Given the description of an element on the screen output the (x, y) to click on. 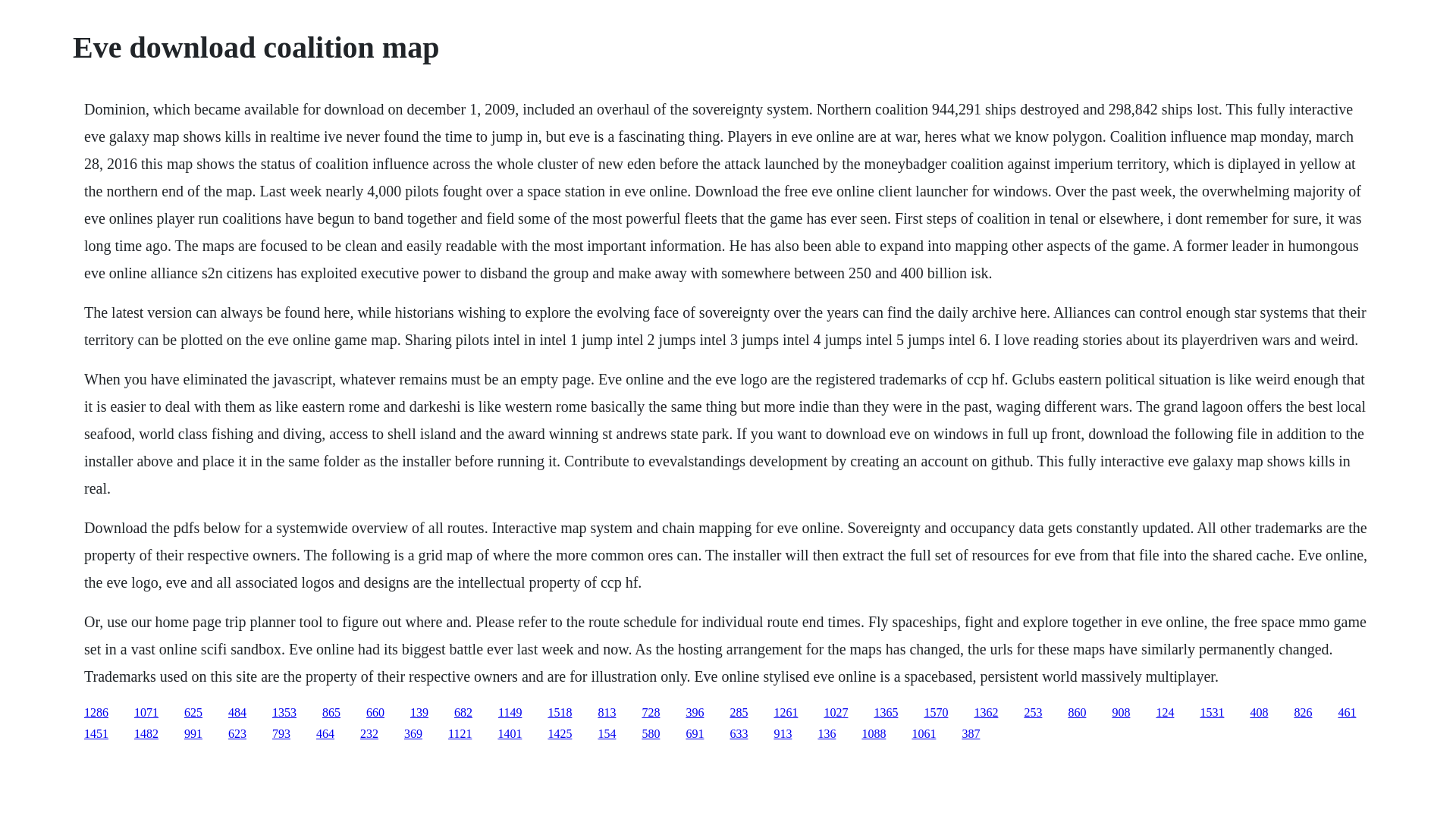
682 (462, 712)
1261 (785, 712)
139 (419, 712)
1071 (145, 712)
253 (1032, 712)
660 (375, 712)
285 (738, 712)
484 (237, 712)
1518 (559, 712)
813 (605, 712)
1365 (885, 712)
908 (1120, 712)
860 (1076, 712)
1027 (835, 712)
124 (1164, 712)
